Given the description of an element on the screen output the (x, y) to click on. 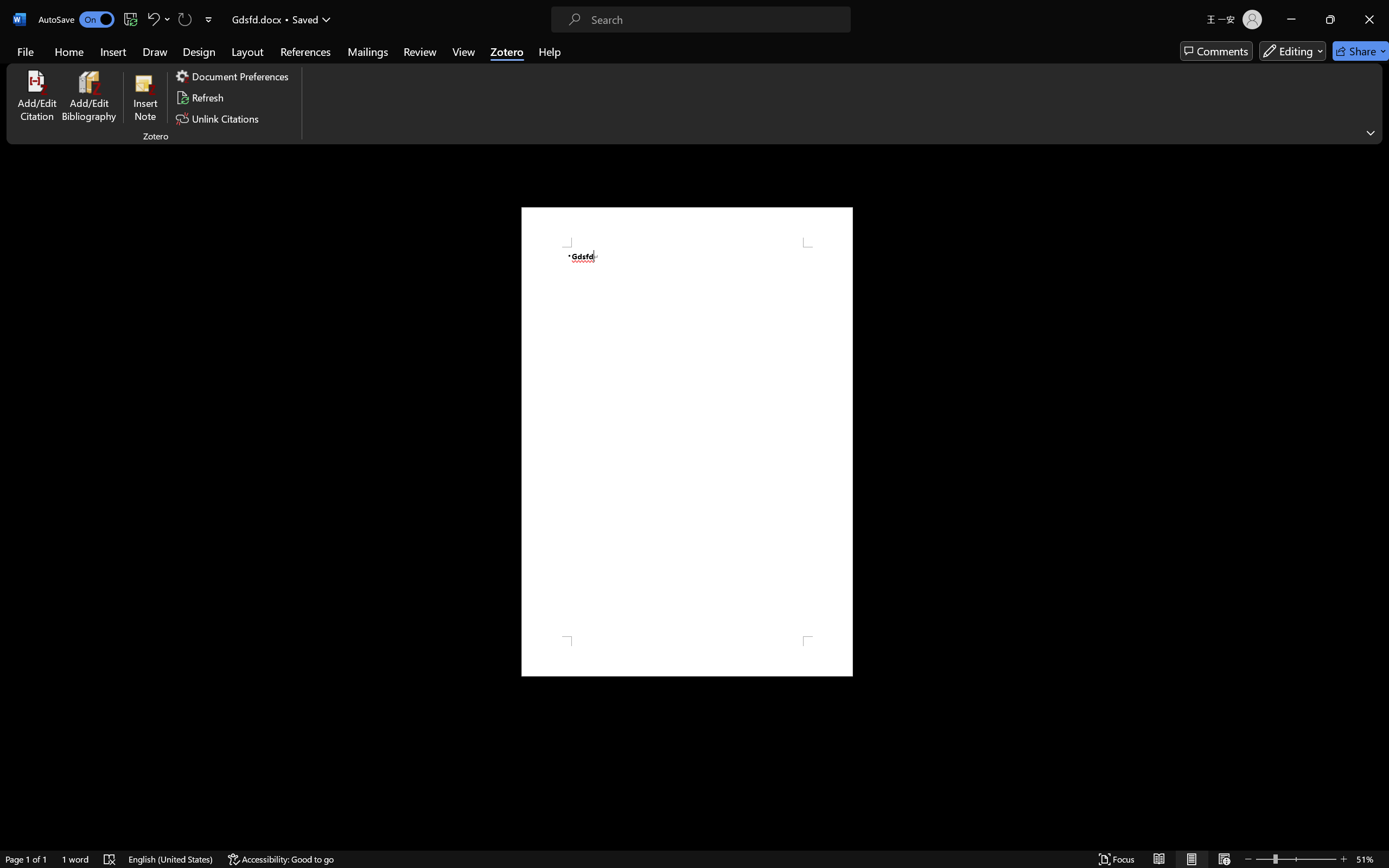
Page 1 content (686, 441)
